Given the description of an element on the screen output the (x, y) to click on. 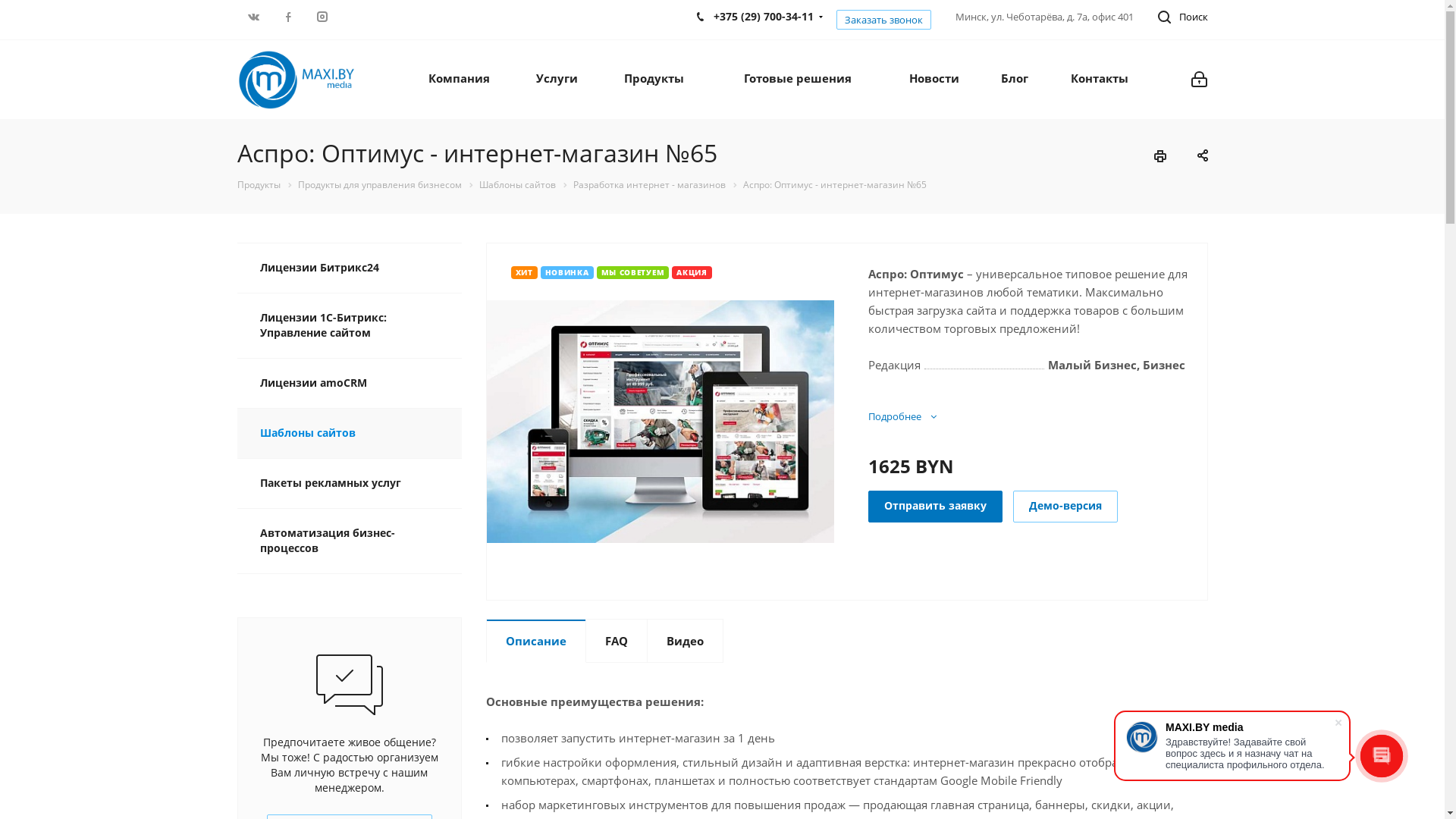
media-maxi.by Element type: hover (295, 79)
FAQ Element type: text (616, 640)
